Given the description of an element on the screen output the (x, y) to click on. 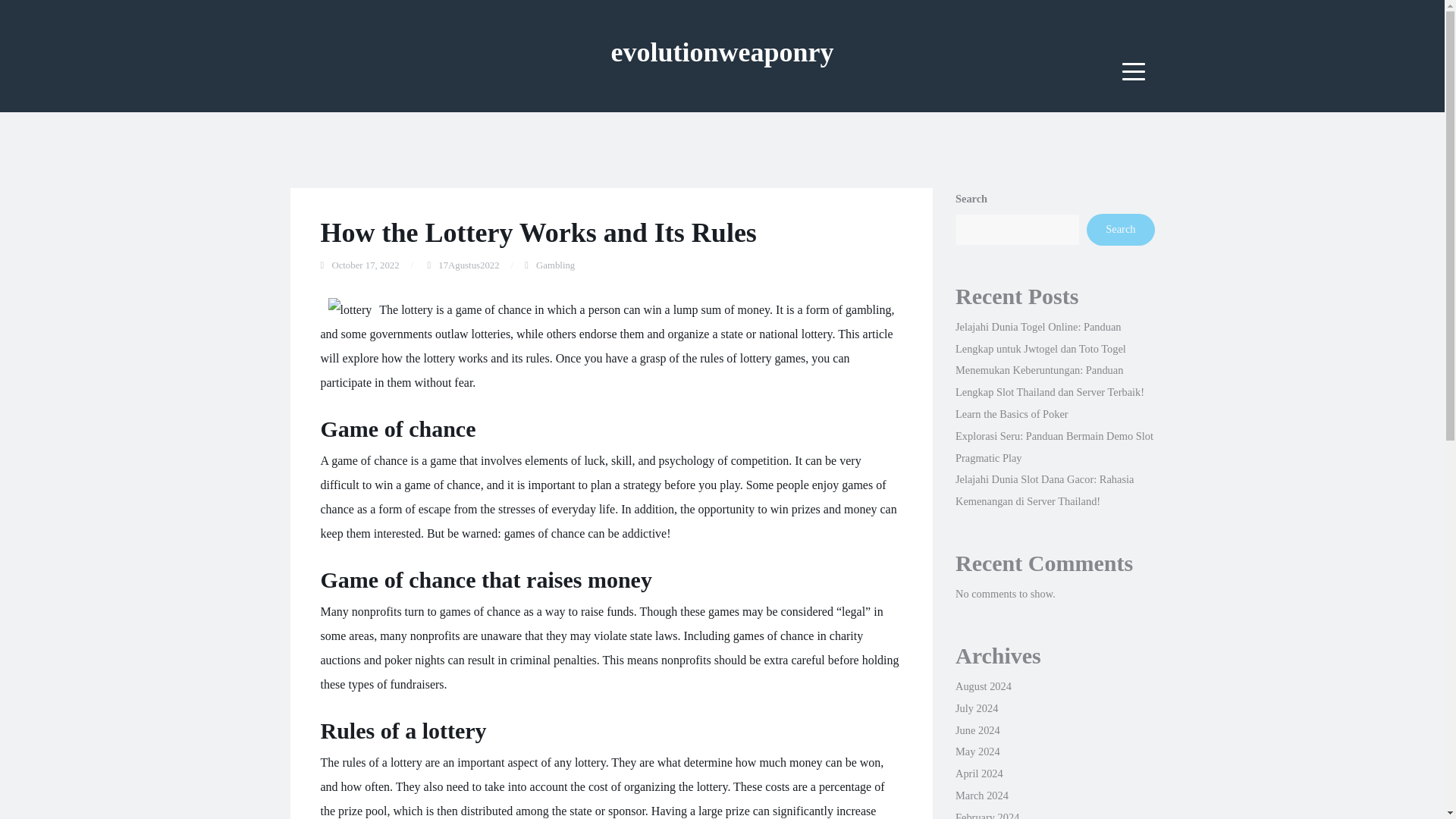
May 2024 (977, 751)
June 2024 (977, 729)
17Agustus2022 (468, 265)
Explorasi Seru: Panduan Bermain Demo Slot Pragmatic Play (1054, 446)
April 2024 (979, 773)
evolutionweaponry (721, 51)
July 2024 (976, 707)
Search (1120, 229)
Learn the Basics of Poker (1011, 413)
October 17, 2022 (364, 265)
March 2024 (982, 795)
August 2024 (983, 686)
February 2024 (987, 815)
